Given the description of an element on the screen output the (x, y) to click on. 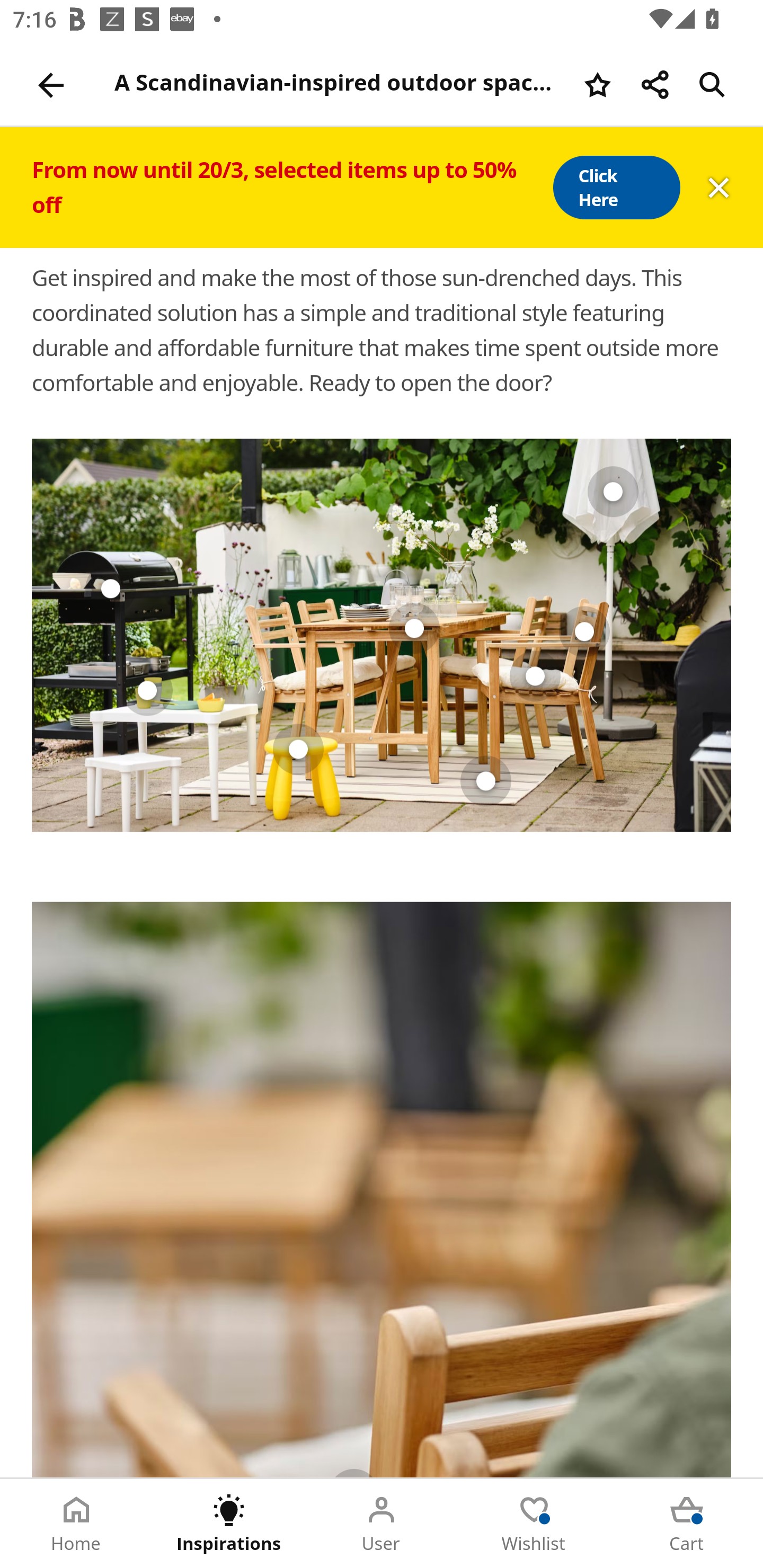
Click Here (615, 187)
Home
Tab 1 of 5 (76, 1522)
Inspirations
Tab 2 of 5 (228, 1522)
User
Tab 3 of 5 (381, 1522)
Wishlist
Tab 4 of 5 (533, 1522)
Cart
Tab 5 of 5 (686, 1522)
